Given the description of an element on the screen output the (x, y) to click on. 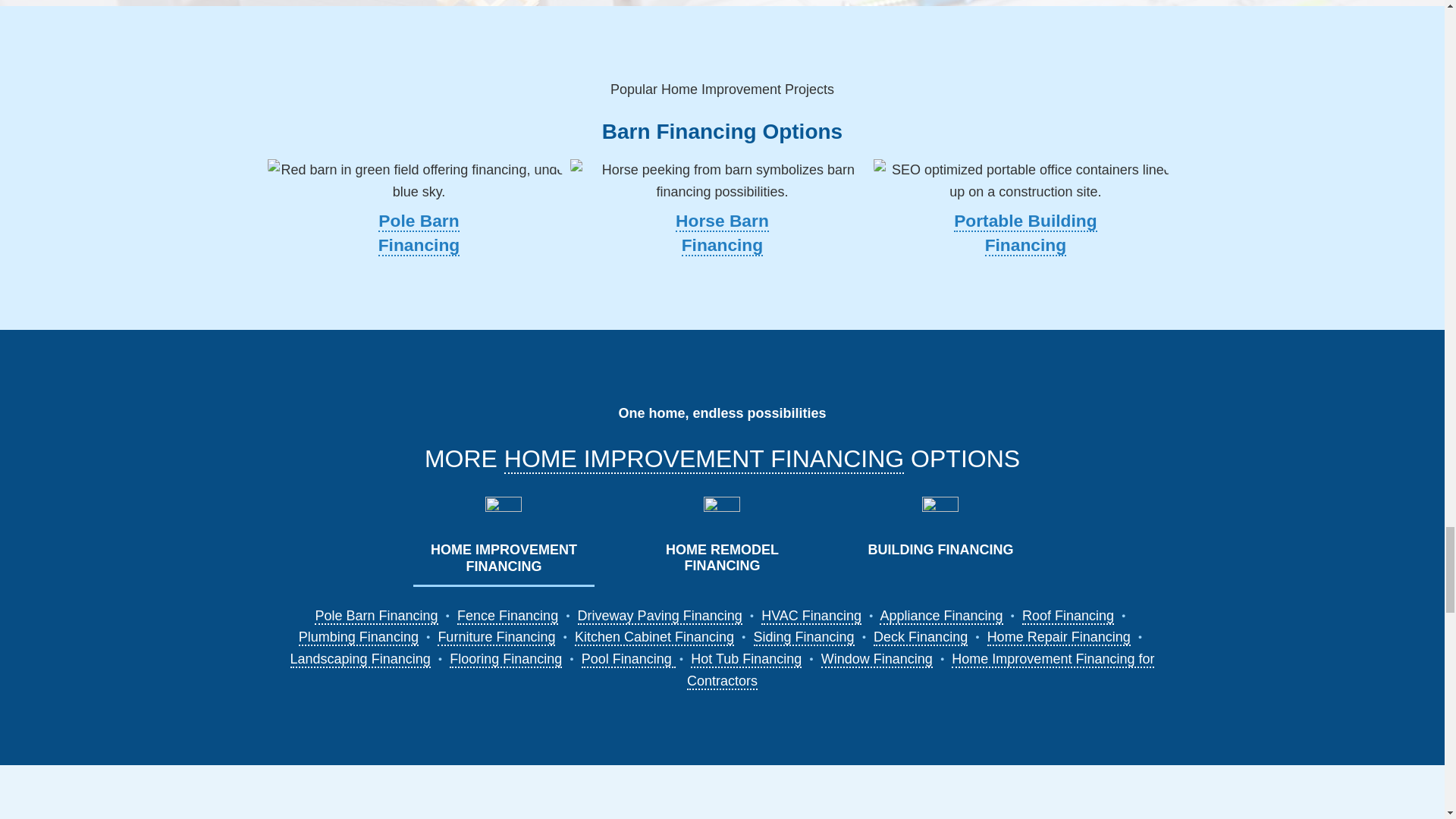
Red barn in green field offering financing, under blue sky. (418, 180)
